Given the description of an element on the screen output the (x, y) to click on. 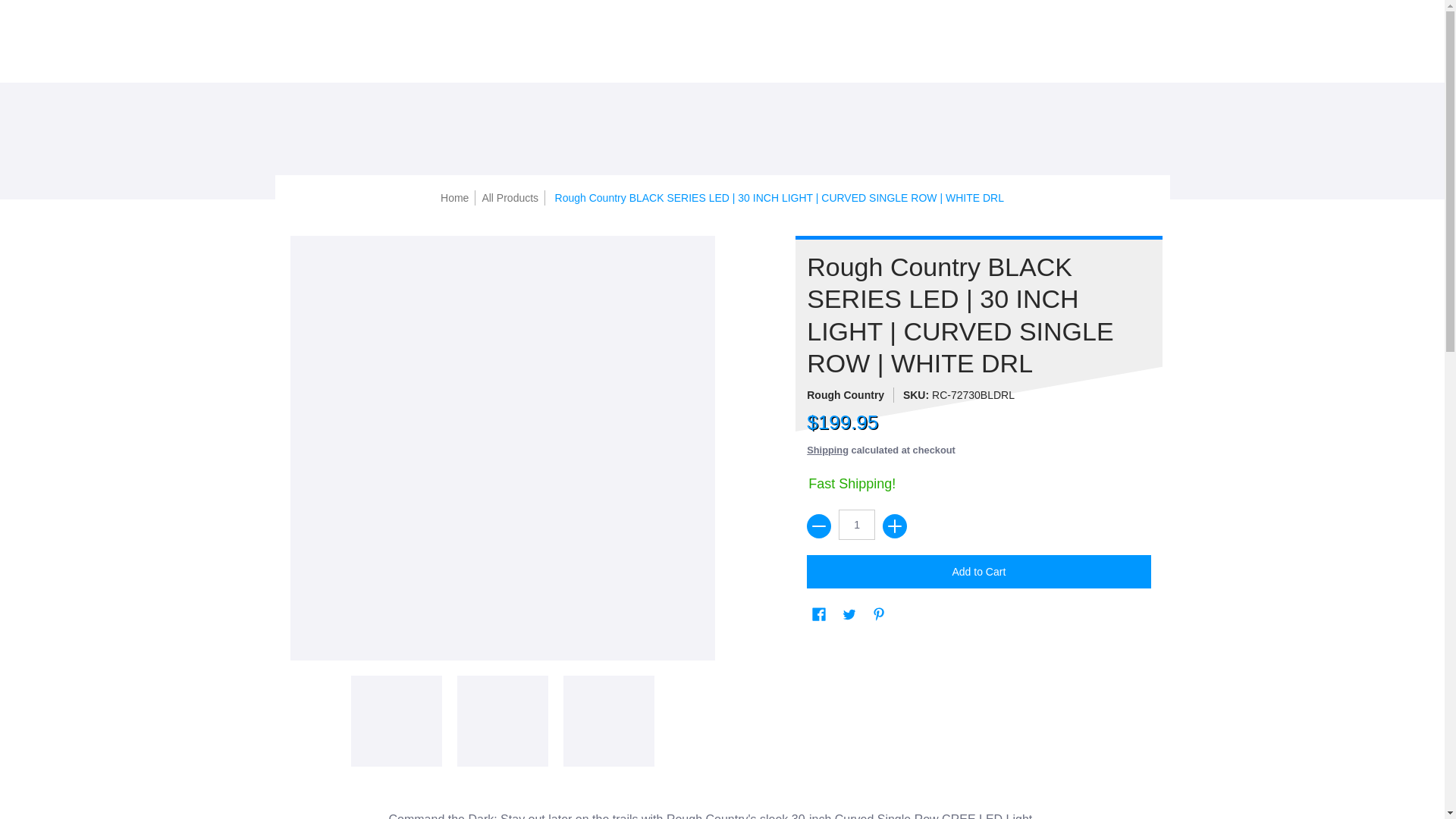
1 (856, 524)
